Given the description of an element on the screen output the (x, y) to click on. 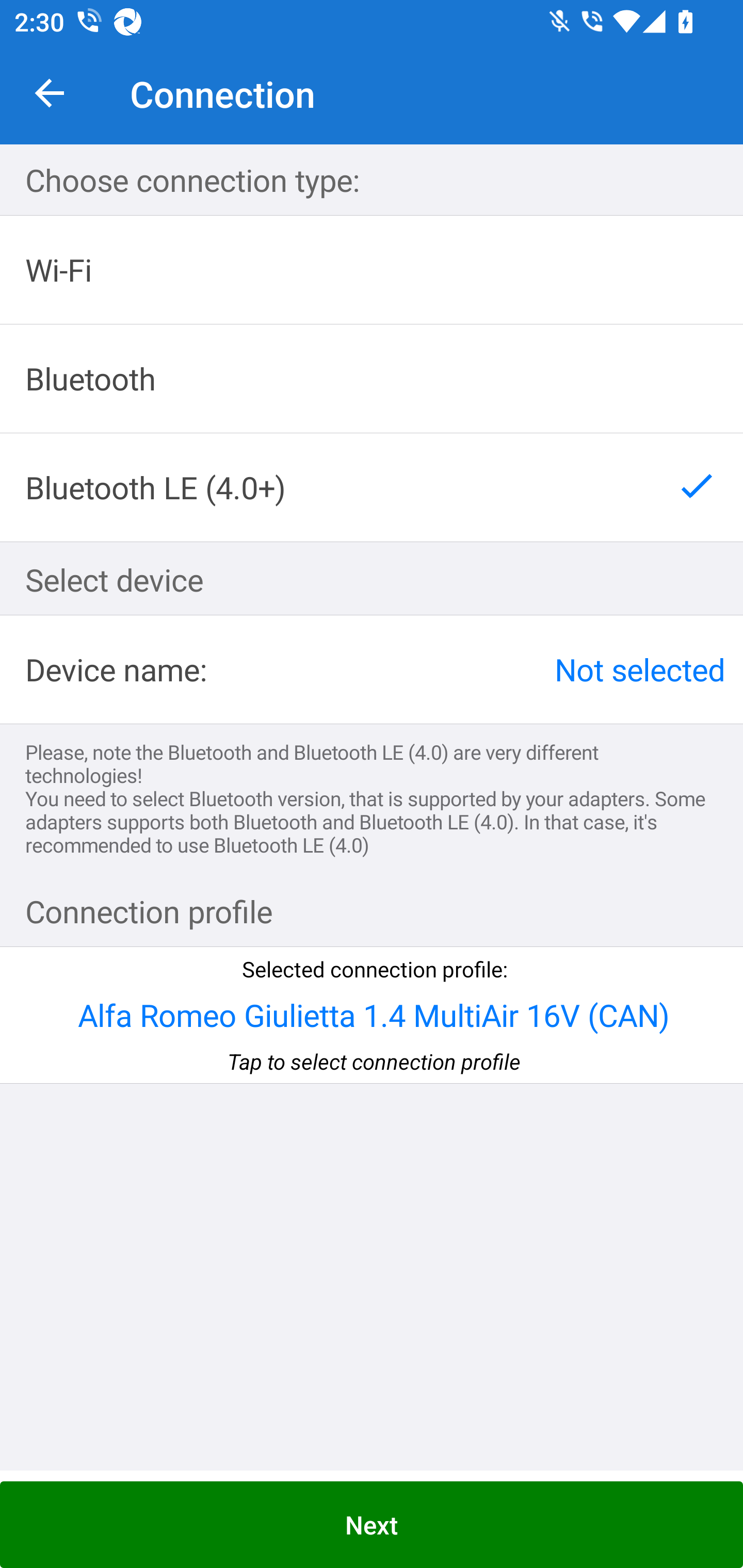
Wi-Fi (371, 270)
Bluetooth (371, 378)
Bluetooth LE (4.0+) (371, 486)
Device name: Not selected (371, 669)
Next (371, 1524)
